Given the description of an element on the screen output the (x, y) to click on. 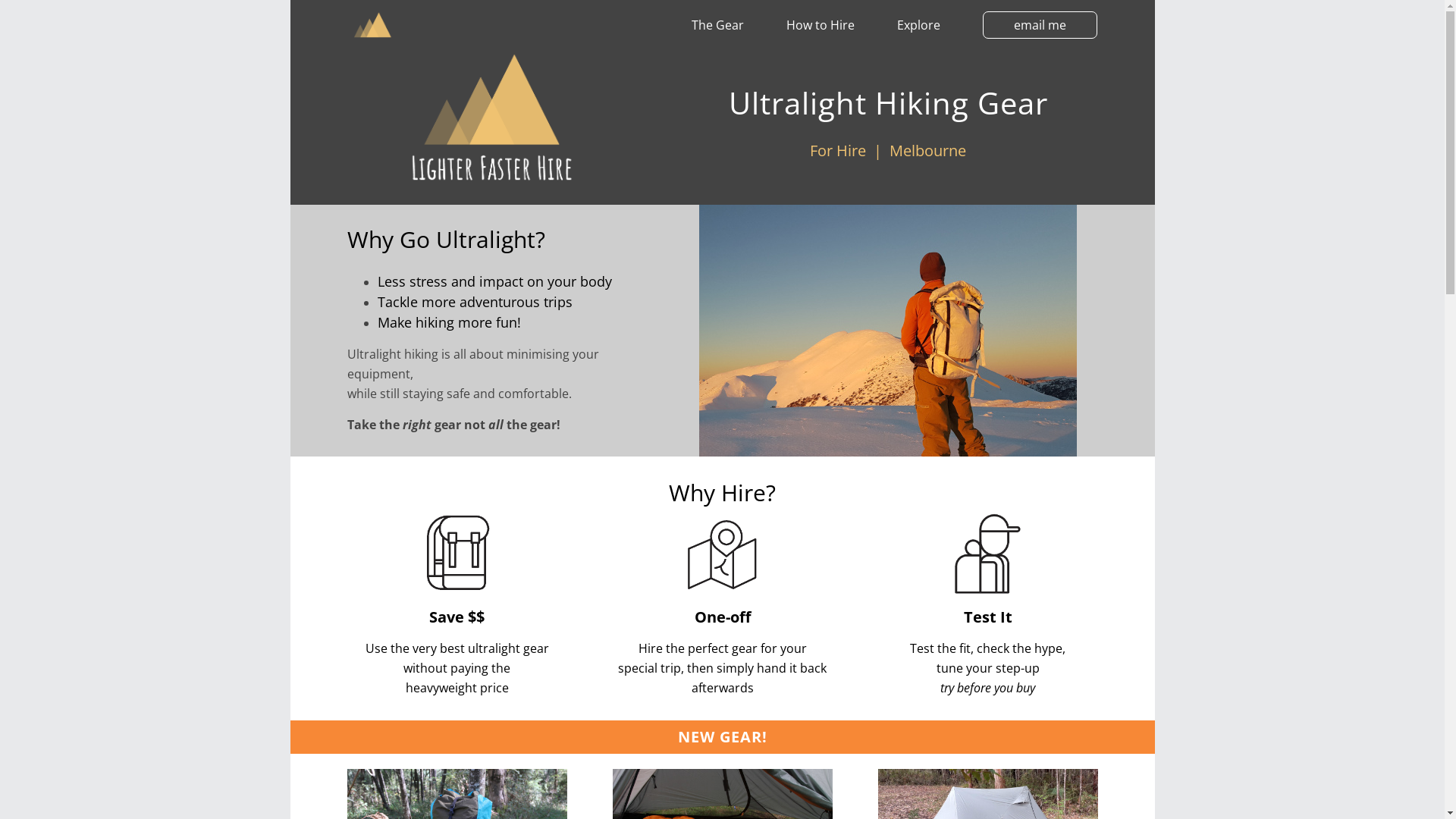
How to Hire Element type: text (819, 24)
email me Element type: text (1039, 24)
Explore Element type: text (917, 24)
The Gear Element type: text (717, 24)
